Given the description of an element on the screen output the (x, y) to click on. 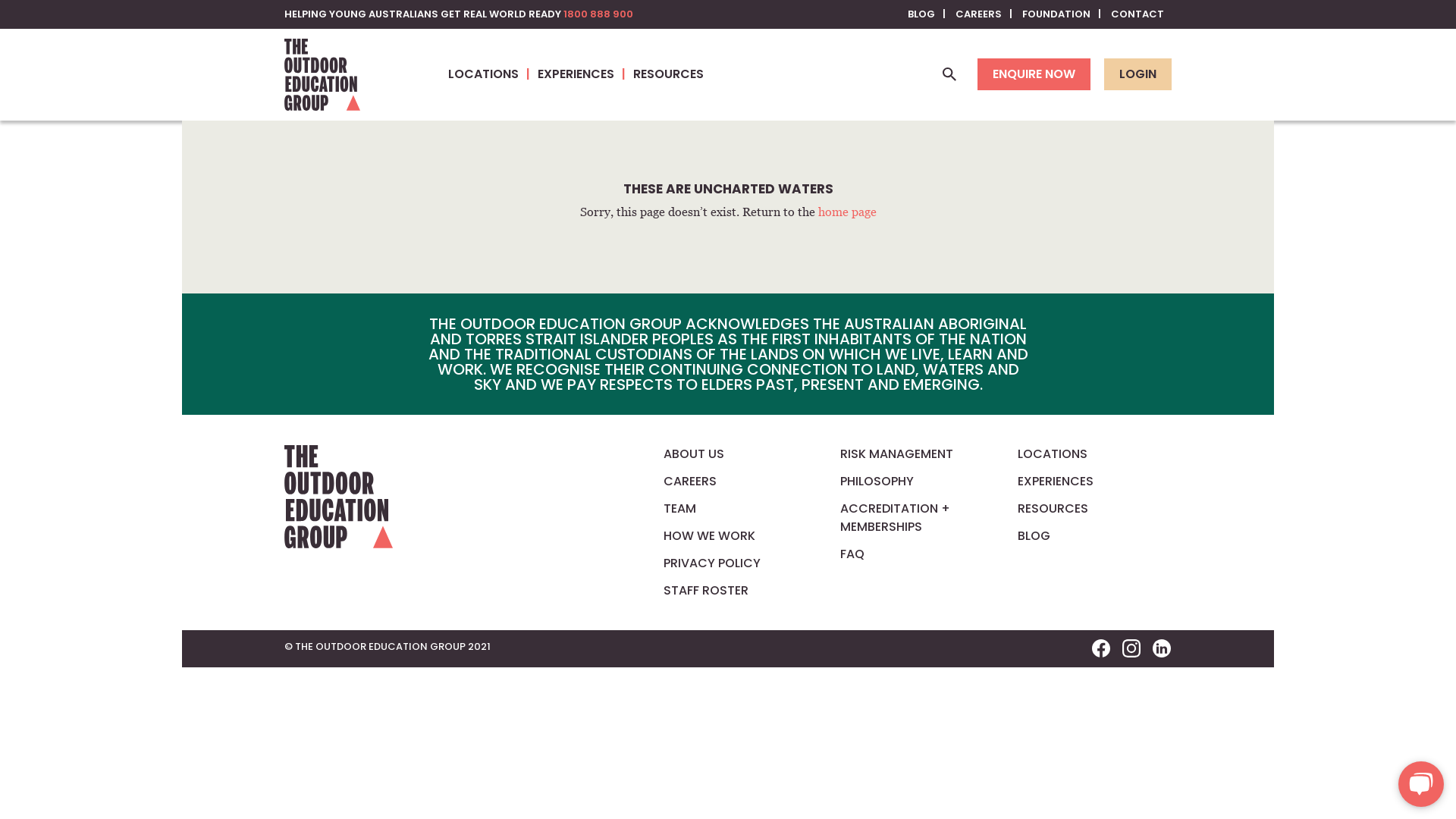
FAQ Element type: text (852, 553)
RESOURCES Element type: text (668, 74)
PHILOSOPHY Element type: text (876, 480)
EXPERIENCES Element type: text (585, 74)
TEAM Element type: text (679, 508)
ABOUT US Element type: text (693, 453)
LOCATIONS Element type: text (1052, 453)
CONTACT Element type: text (1137, 13)
home page Element type: text (846, 211)
RESOURCES Element type: text (1052, 508)
CAREERS Element type: text (983, 13)
HOW WE WORK Element type: text (709, 535)
EXPERIENCES Element type: text (1055, 480)
BLOG Element type: text (926, 13)
FOUNDATION Element type: text (1061, 13)
RISK MANAGEMENT Element type: text (896, 453)
ACCREDITATION + MEMBERSHIPS Element type: text (895, 517)
1800 888 900 Element type: text (598, 13)
LOGIN Element type: text (1137, 74)
BLOG Element type: text (1033, 535)
ENQUIRE NOW Element type: text (1033, 74)
LOCATIONS Element type: text (492, 74)
PRIVACY POLICY Element type: text (711, 562)
CAREERS Element type: text (689, 480)
STAFF ROSTER Element type: text (705, 590)
